Given the description of an element on the screen output the (x, y) to click on. 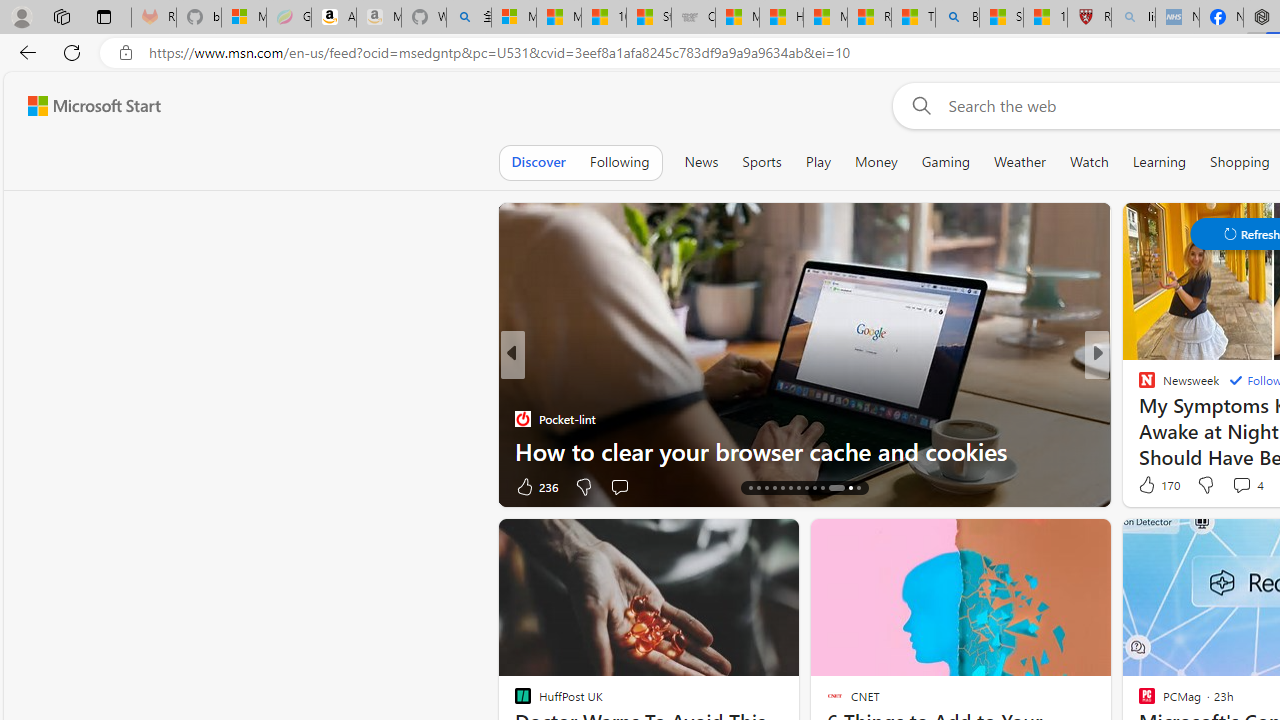
636 Like (1151, 486)
View comments 34 Comment (1234, 485)
Recipes - MSN (868, 17)
Pocket-lint (522, 418)
View comments 2 Comment (11, 485)
Web search (917, 105)
AutomationID: tab-21 (806, 487)
AutomationID: tab-26 (857, 487)
Play (817, 161)
